Given the description of an element on the screen output the (x, y) to click on. 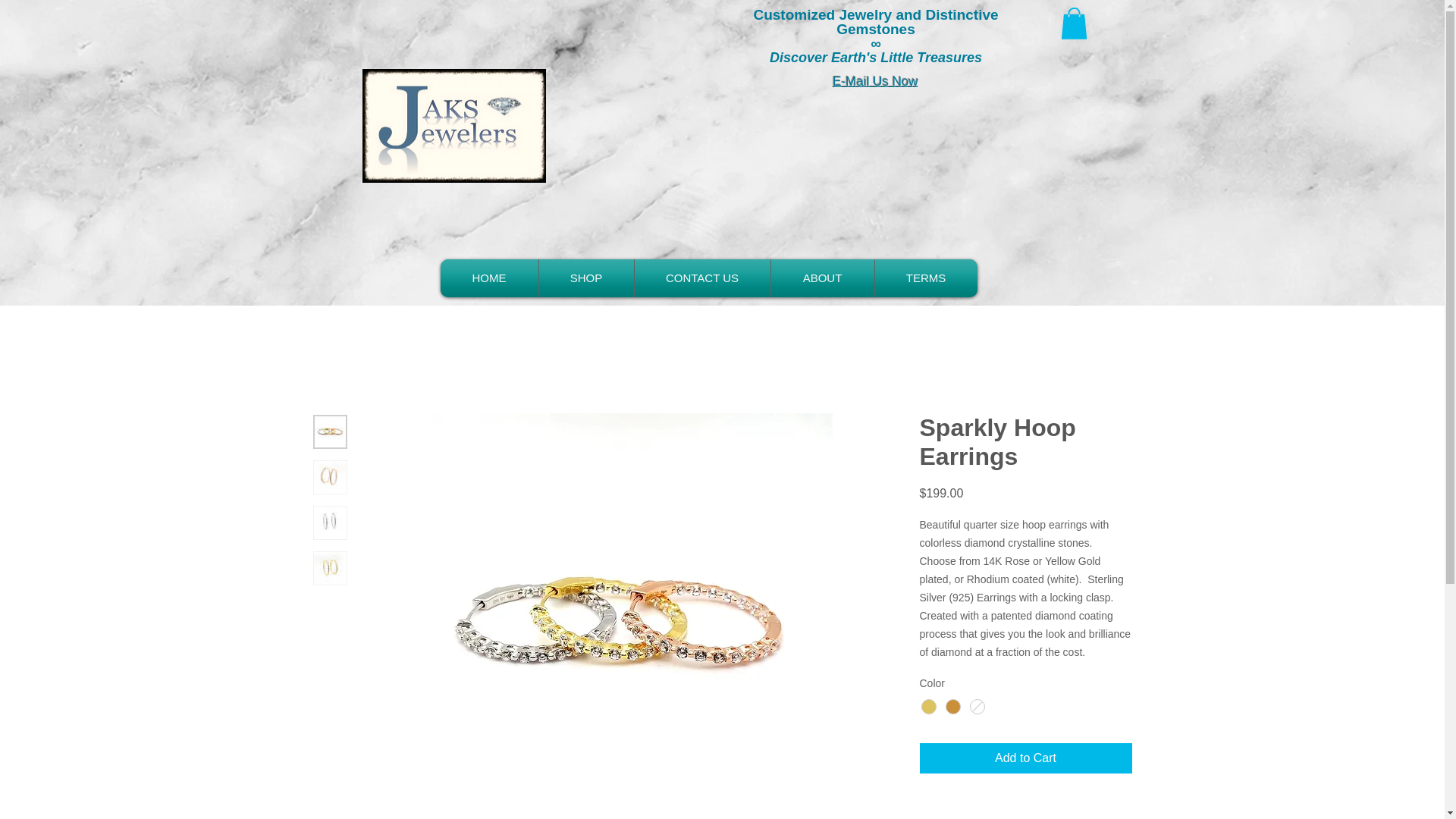
ABOUT (822, 278)
SHOP (586, 278)
CONTACT US (703, 278)
E-Mail Us Now (874, 81)
Add to Cart (1024, 757)
TERMS (924, 278)
HOME (489, 278)
